Given the description of an element on the screen output the (x, y) to click on. 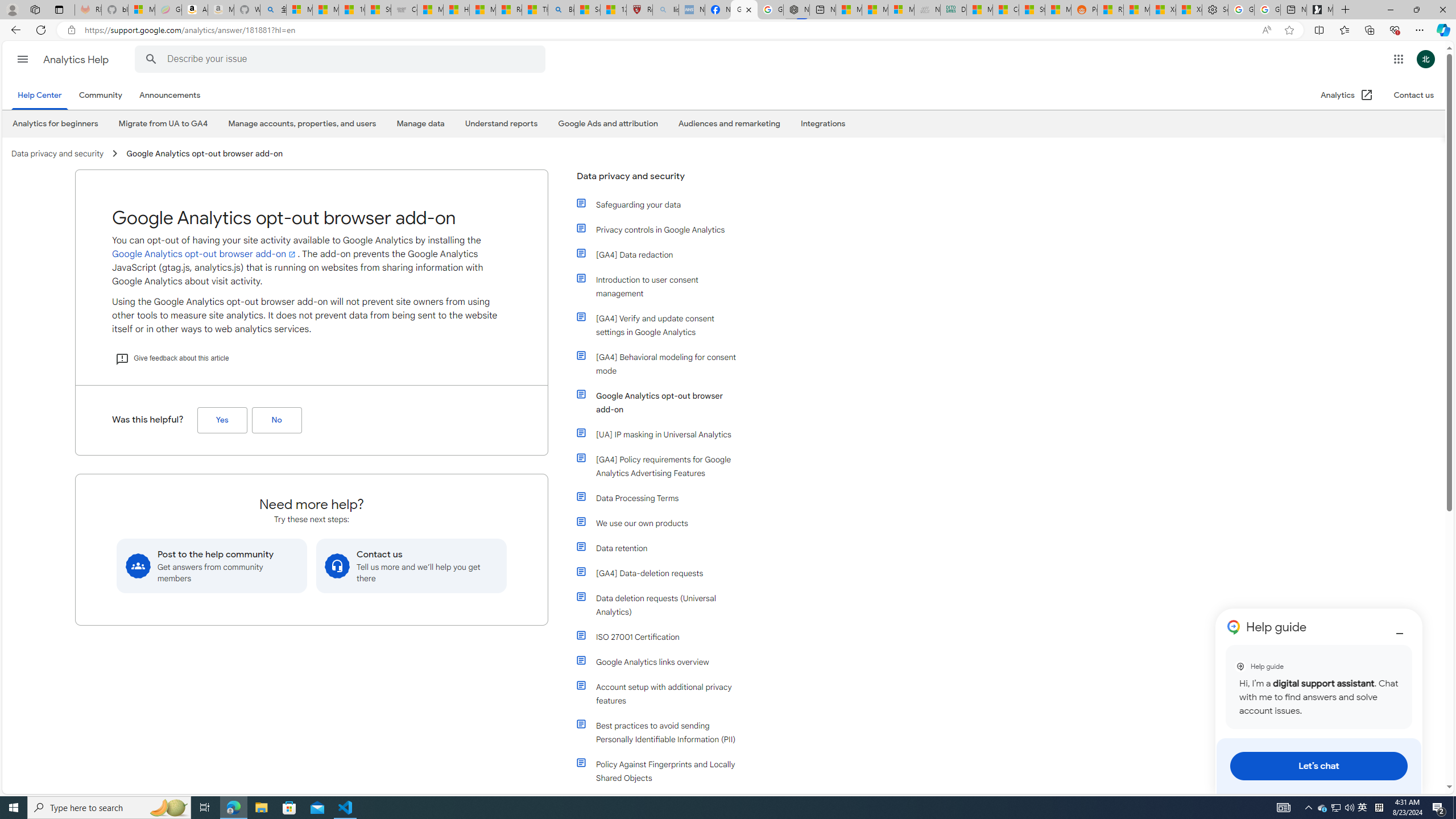
Analytics for beginners (55, 123)
Audiences and remarketing (729, 123)
Google Analytics links overview (664, 661)
[UA] IP masking in Universal Analytics (664, 434)
Google Analytics opt-out browser add-on - Analytics Help (743, 9)
Class: need-more-help-option__svg (337, 565)
Data deletion requests (Universal Analytics) (664, 604)
